Given the description of an element on the screen output the (x, y) to click on. 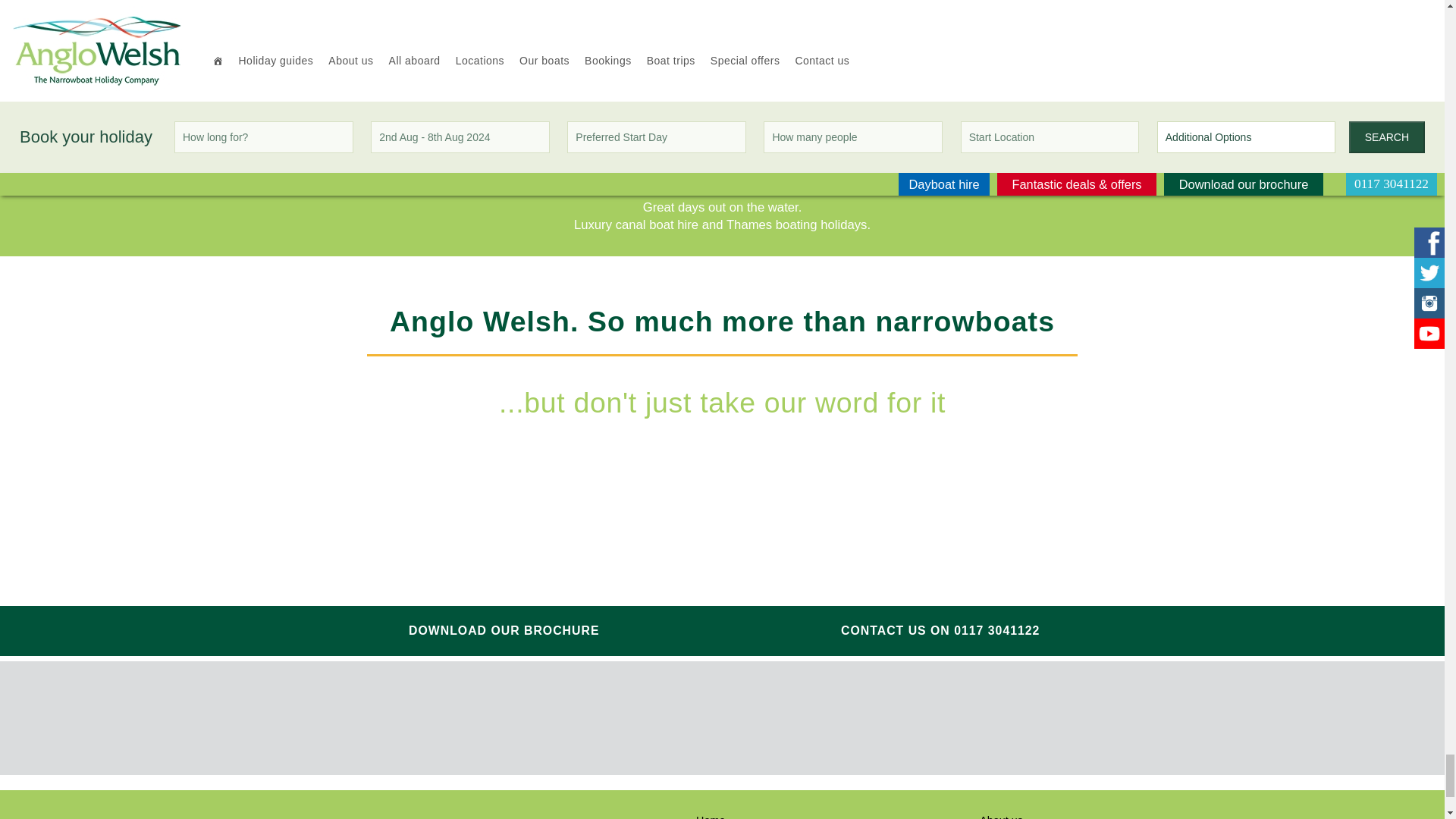
Gas Safe Register (783, 719)
Visit England (542, 718)
British Marine (661, 719)
